Given the description of an element on the screen output the (x, y) to click on. 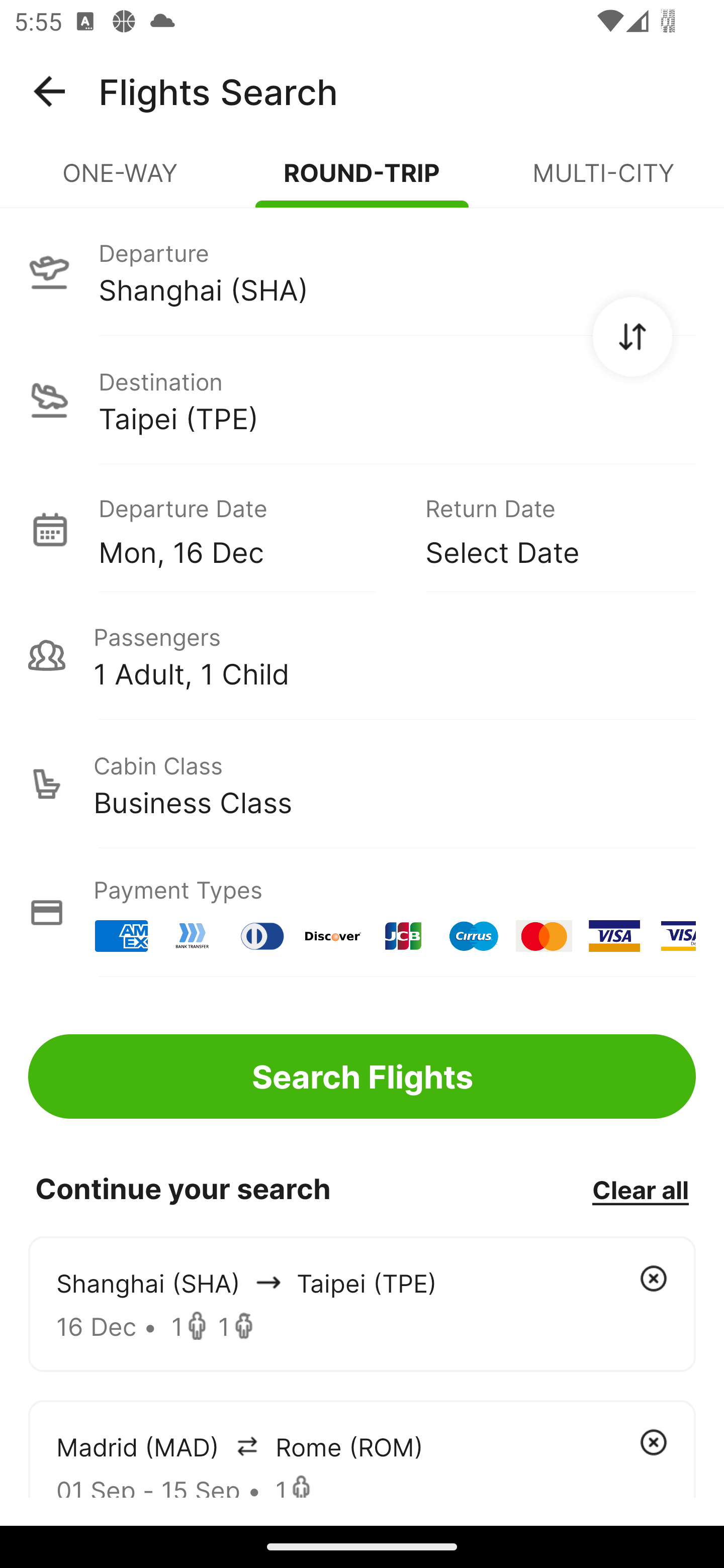
ONE-WAY (120, 180)
ROUND-TRIP (361, 180)
MULTI-CITY (603, 180)
Departure Shanghai (SHA) (362, 270)
Destination Taipei (TPE) (362, 400)
Departure Date Mon, 16 Dec (247, 528)
Return Date Select Date (546, 528)
Passengers 1 Adult, 1 Child (362, 655)
Cabin Class Business Class (362, 783)
Payment Types (362, 912)
Search Flights (361, 1075)
Clear all (640, 1189)
